Given the description of an element on the screen output the (x, y) to click on. 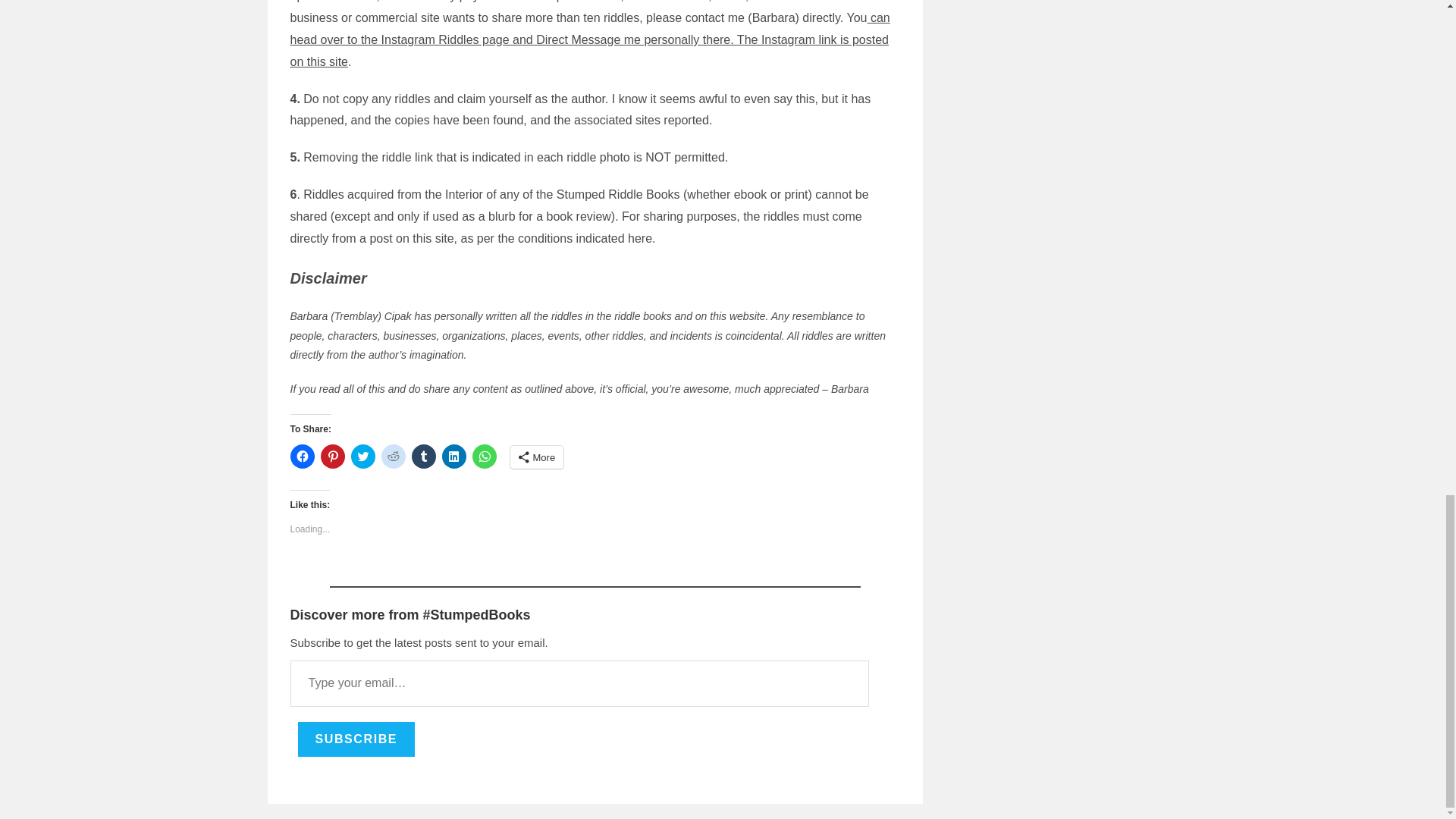
Click to share on Facebook (301, 456)
Click to share on WhatsApp (483, 456)
Click to share on Reddit (392, 456)
Please fill in this field. (579, 683)
Click to share on Twitter (362, 456)
Click to share on Pinterest (331, 456)
Click to share on Tumblr (422, 456)
Click to share on LinkedIn (453, 456)
